Given the description of an element on the screen output the (x, y) to click on. 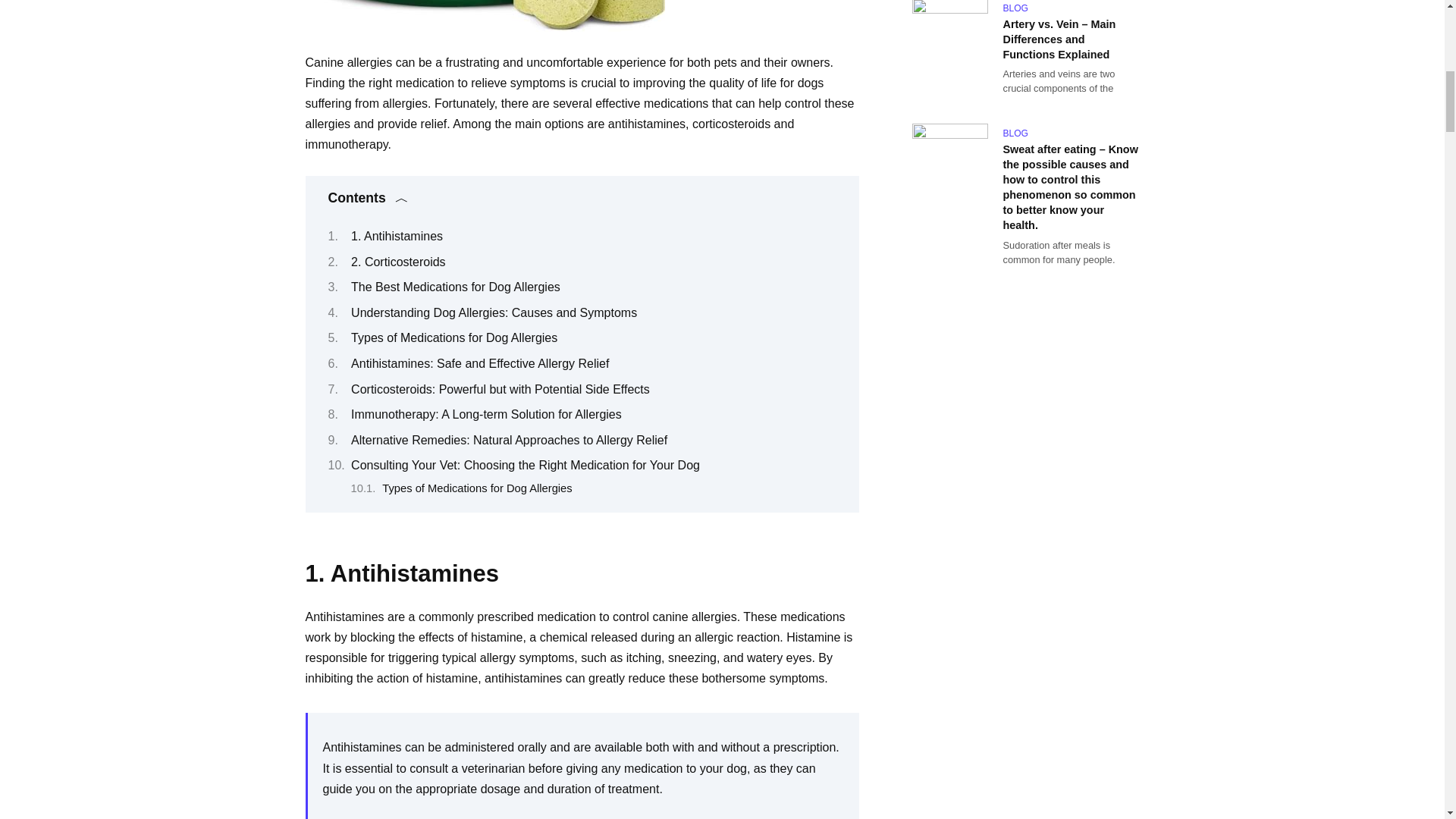
Antihistamines: Safe and Effective Allergy Relief (479, 363)
1. Antihistamines (396, 236)
2. Corticosteroids (397, 261)
Types of Medications for Dog Allergies (476, 488)
Corticosteroids: Powerful but with Potential Side Effects (499, 389)
Understanding Dog Allergies: Causes and Symptoms (493, 312)
The Best Medications for Dog Allergies (455, 286)
Types of Medications for Dog Allergies (453, 337)
